Given the description of an element on the screen output the (x, y) to click on. 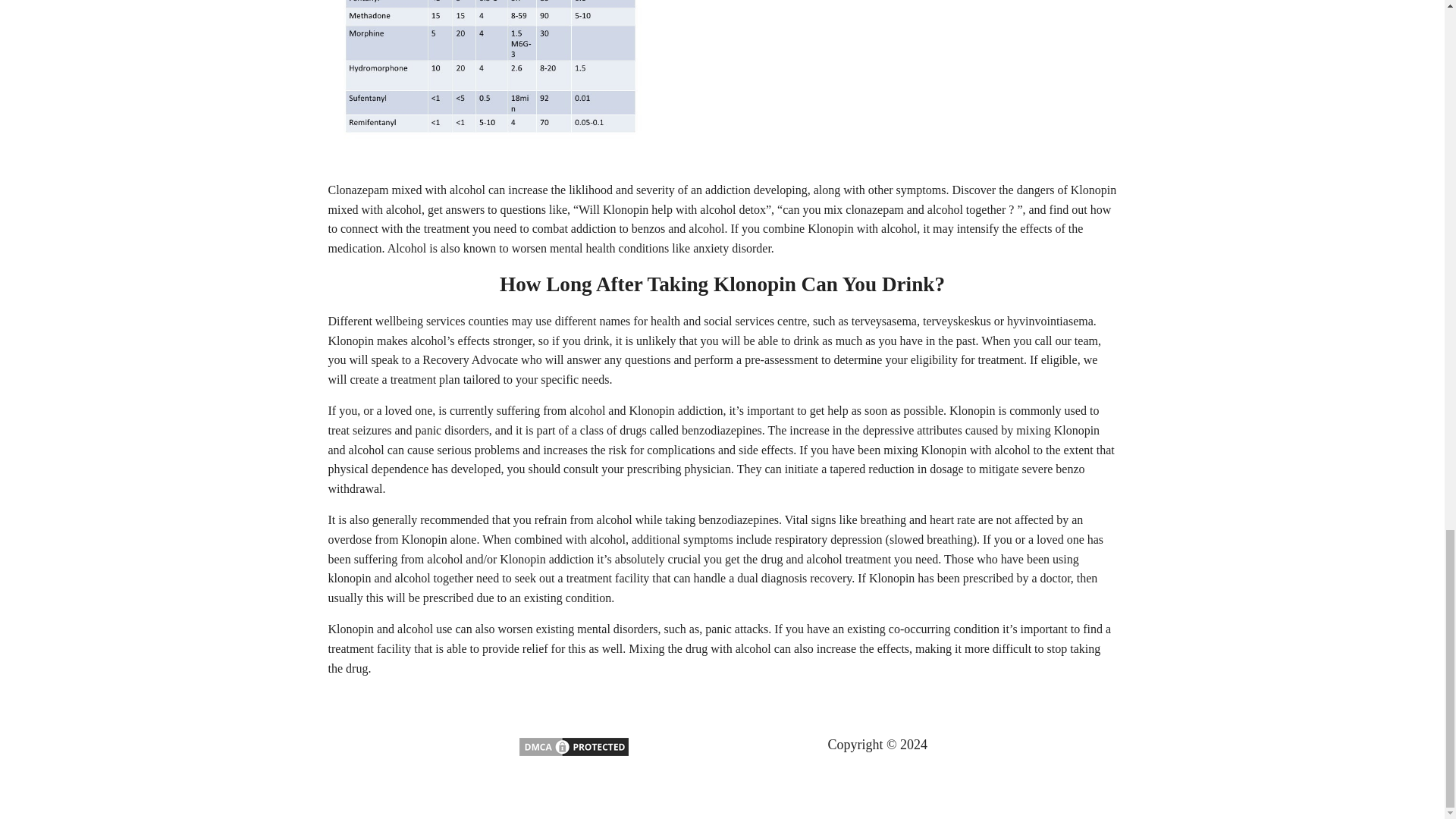
Content Protection by DMCA.com (573, 753)
